Given the description of an element on the screen output the (x, y) to click on. 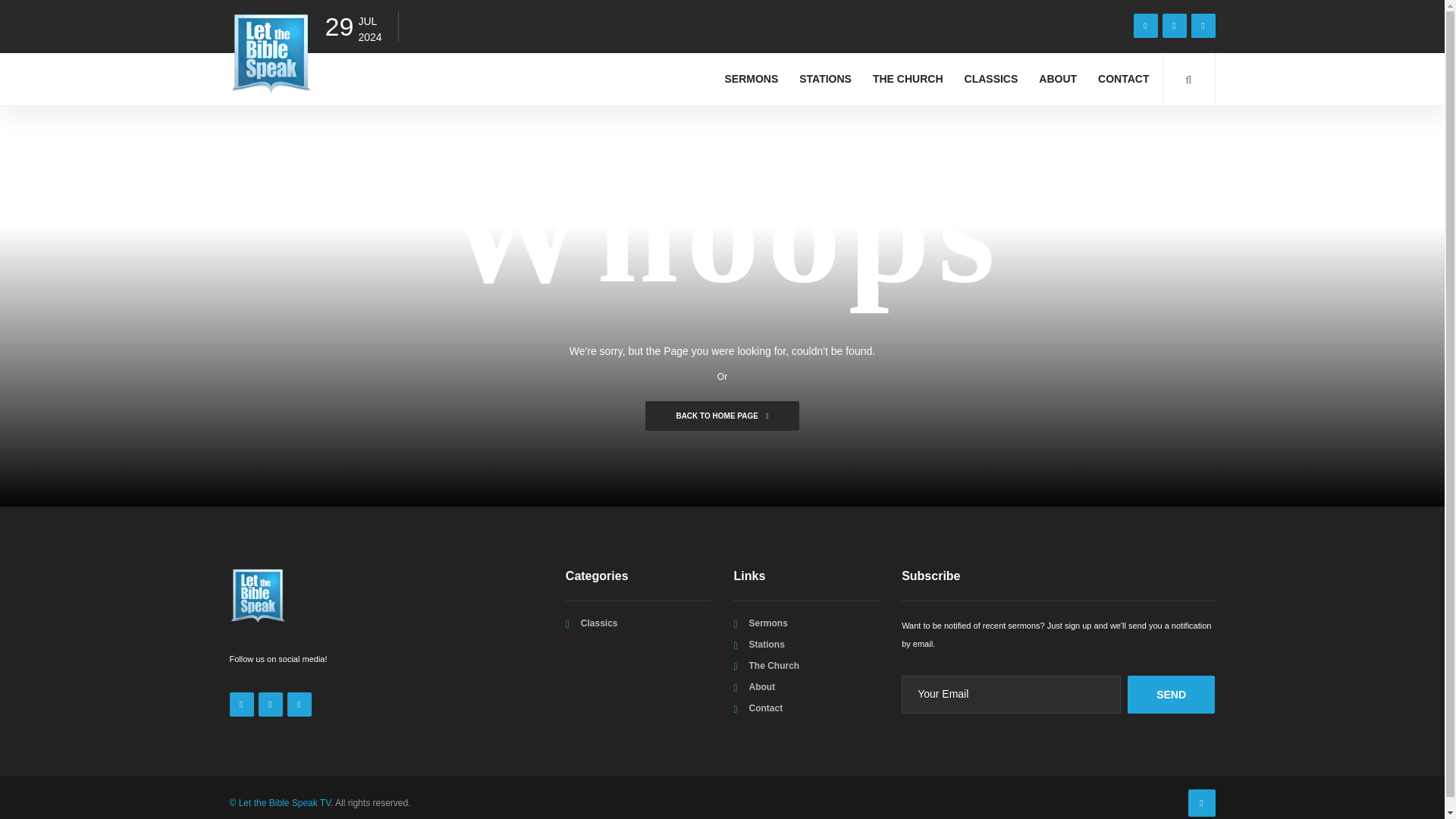
The Church (773, 665)
CLASSICS (991, 79)
SEND (1170, 694)
SERMONS (751, 79)
About (761, 686)
ABOUT (1057, 79)
CONTACT (1123, 79)
THE CHURCH (908, 79)
STATIONS (825, 79)
Contact (765, 707)
Classics (598, 623)
Sermons (767, 623)
Stations (766, 644)
BACK TO HOME PAGE (721, 415)
